Given the description of an element on the screen output the (x, y) to click on. 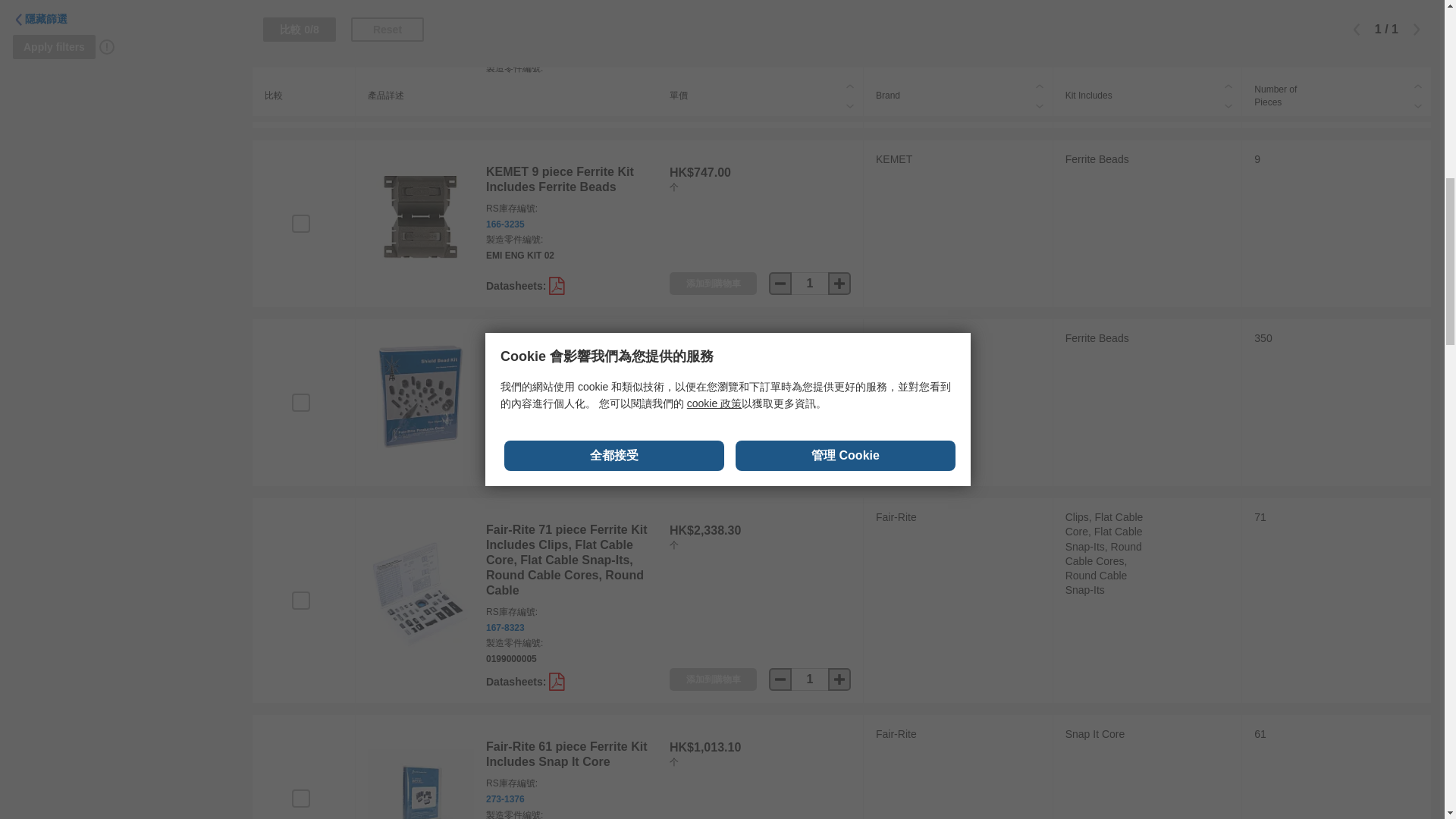
1 (810, 679)
on (299, 40)
1 (810, 462)
1 (810, 104)
on (299, 600)
on (299, 223)
1 (810, 282)
on (299, 798)
on (299, 402)
